Given the description of an element on the screen output the (x, y) to click on. 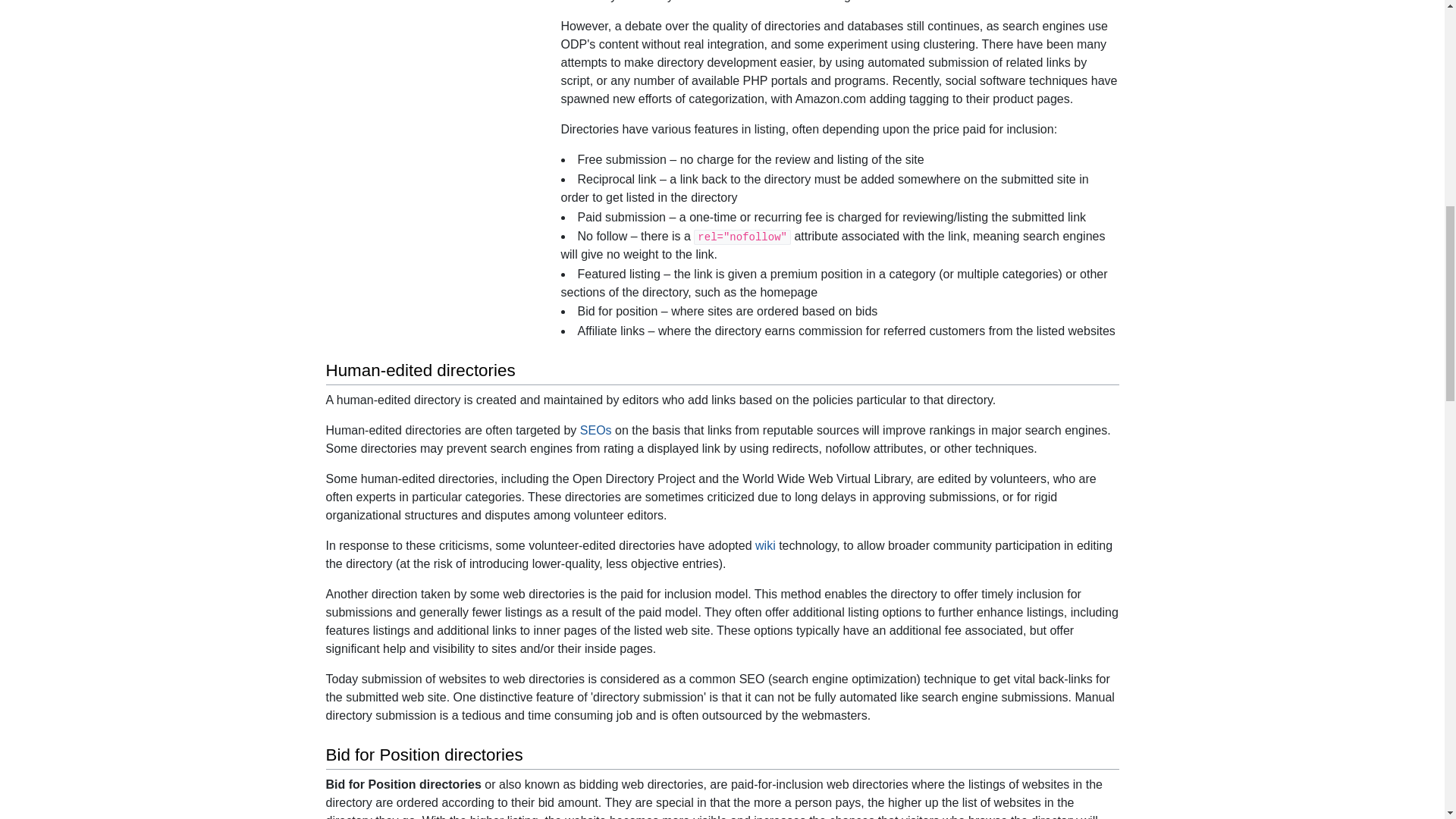
SEOs (595, 430)
Search engine optimization (595, 430)
wiki (765, 545)
Wiki (765, 545)
